Given the description of an element on the screen output the (x, y) to click on. 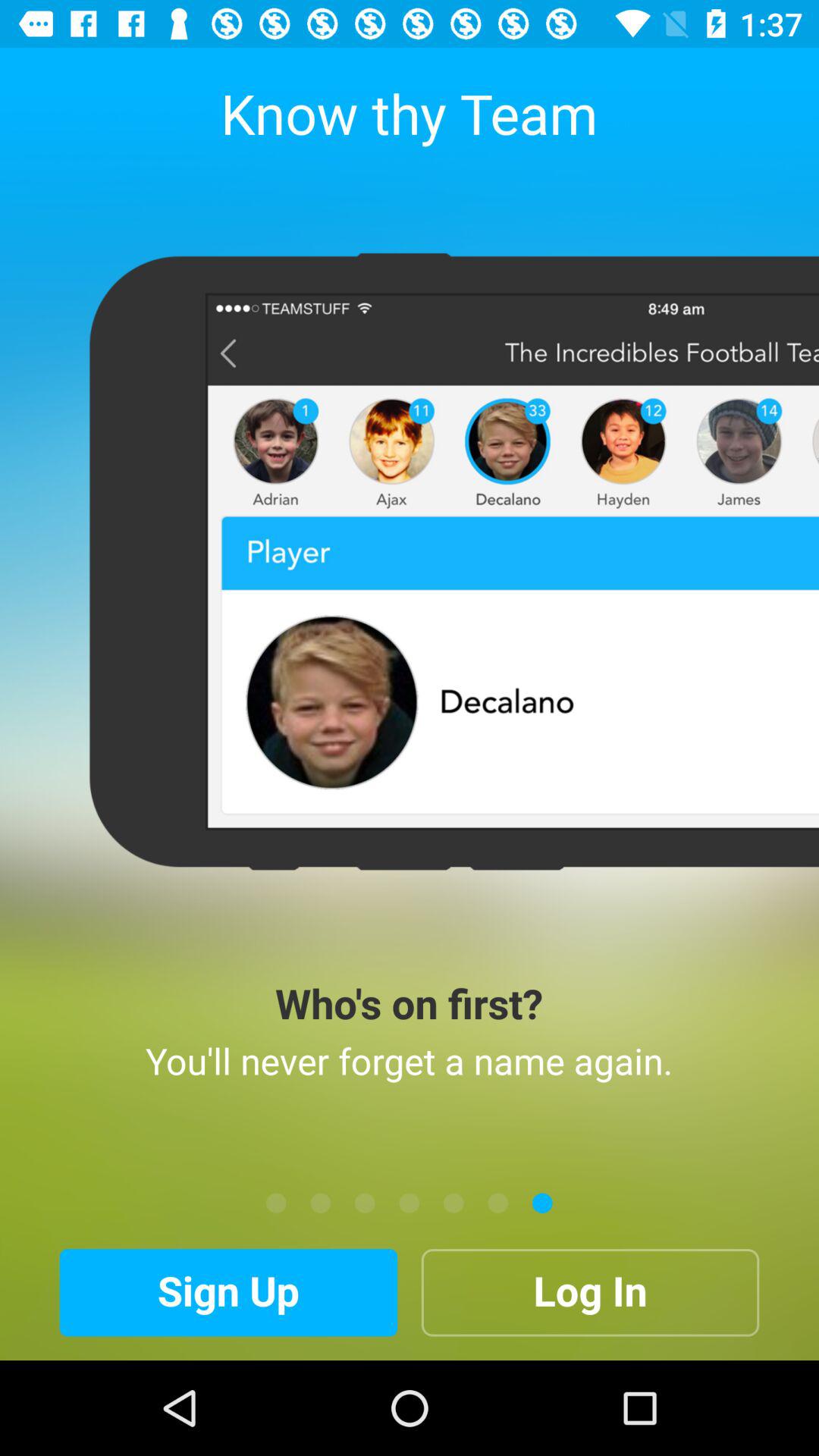
turn off log in (590, 1292)
